Given the description of an element on the screen output the (x, y) to click on. 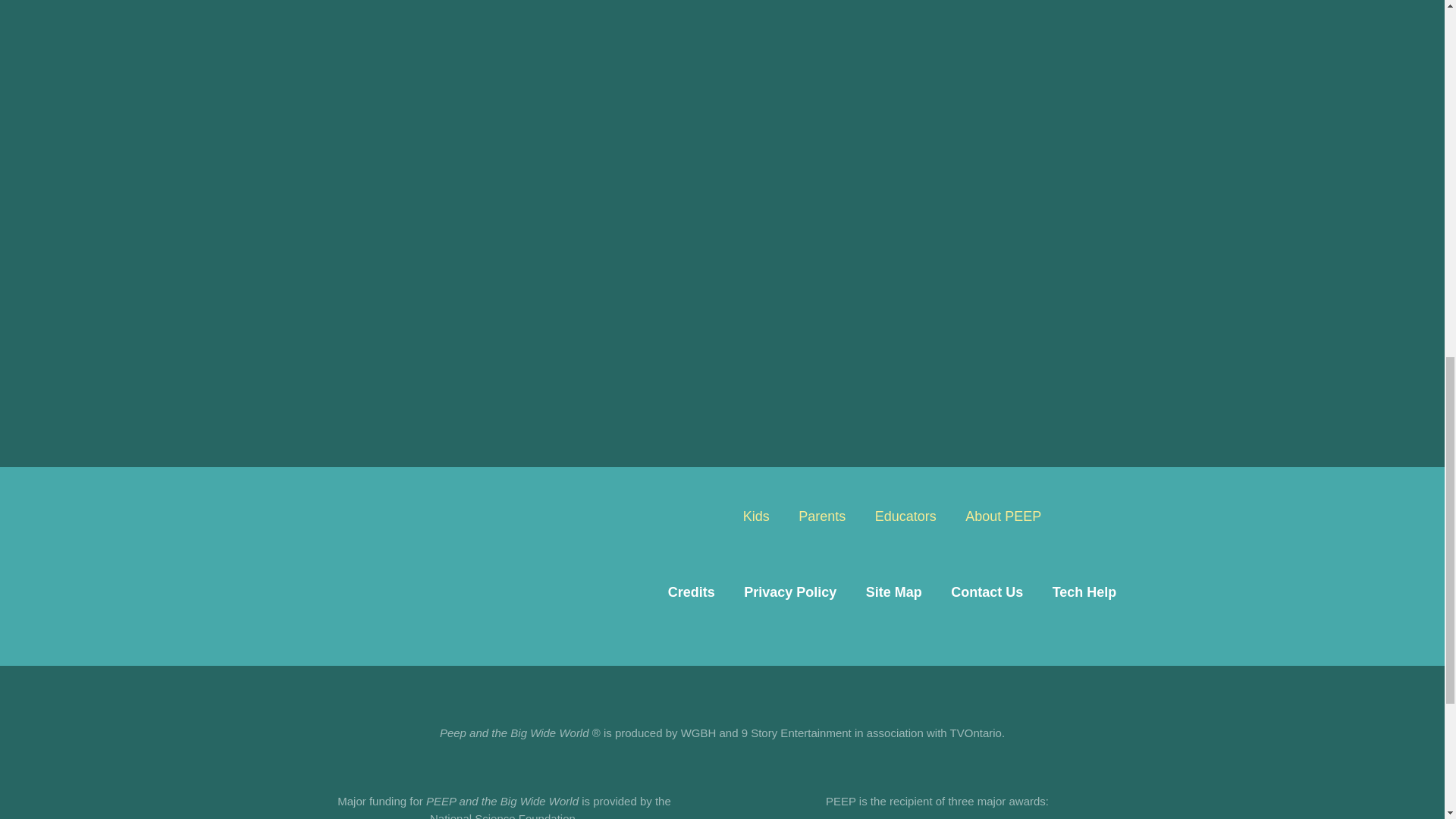
Educators (905, 516)
Credits (691, 592)
About PEEP (1003, 516)
Tech Help (1084, 592)
Parents (821, 516)
Privacy Policy (789, 592)
Site Map (893, 592)
Contact Us (986, 592)
Kids (756, 516)
